Given the description of an element on the screen output the (x, y) to click on. 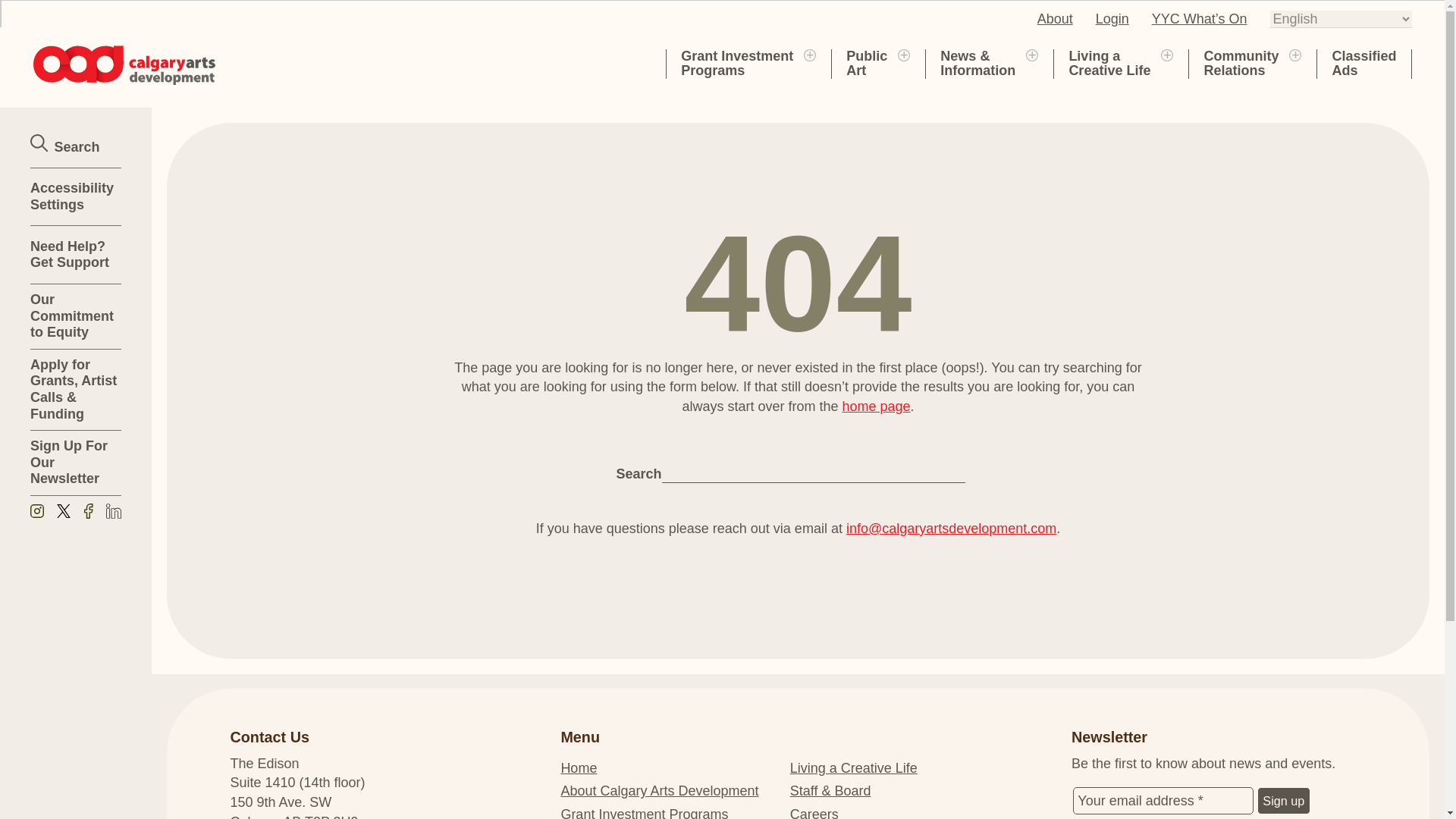
LinkedIn (113, 513)
Expand Public Art Submenu (865, 63)
Twitter (737, 63)
Instagram (904, 54)
Login (62, 513)
Expand Grant Investment Programs Submenu (36, 513)
Expand Living a Creative Life Submenu (1112, 17)
Expand Community Relations Submenu (1109, 63)
About (809, 54)
Facebook (1166, 54)
